Given the description of an element on the screen output the (x, y) to click on. 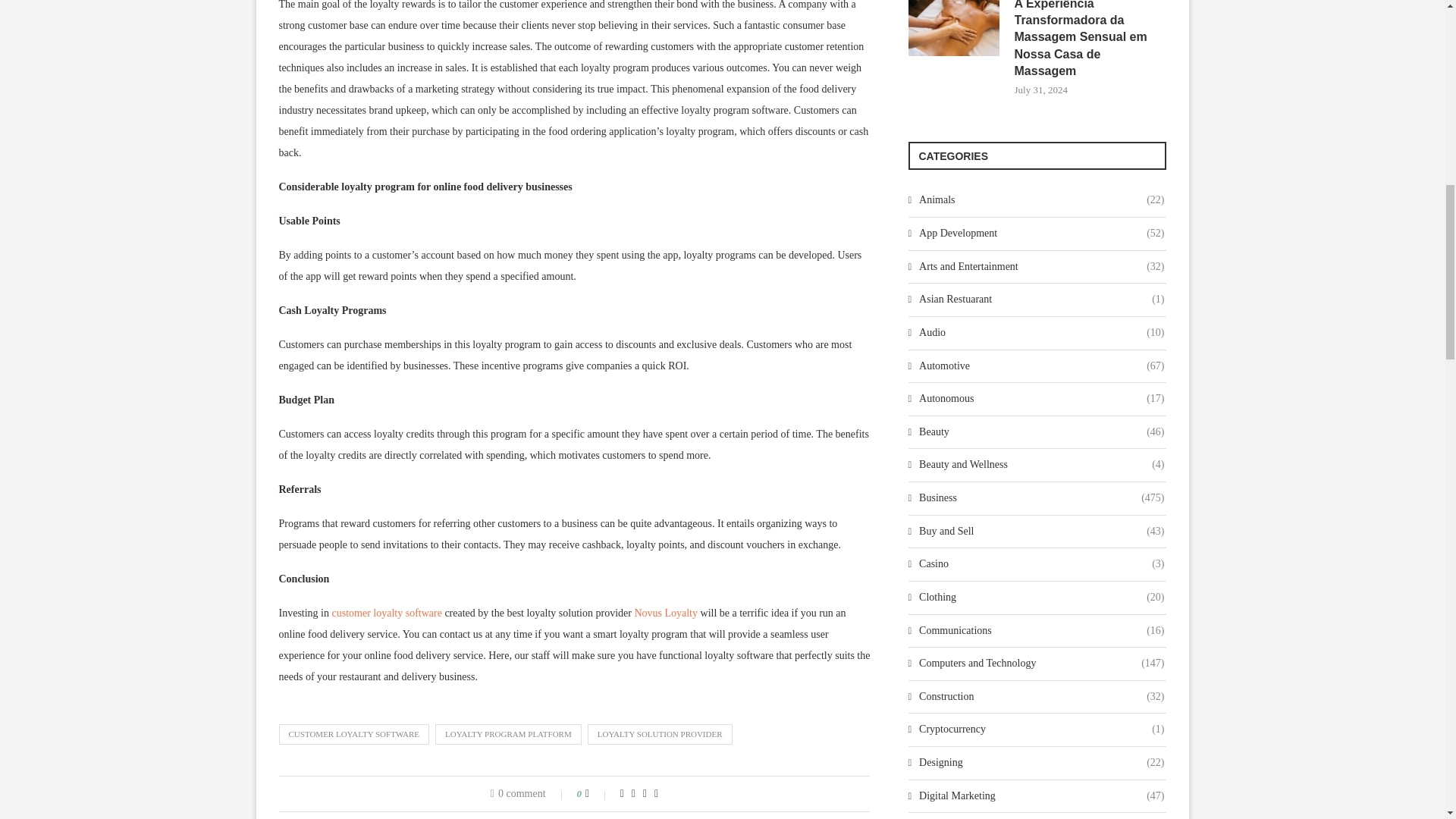
LOYALTY SOLUTION PROVIDER (660, 733)
Novus Loyalty (665, 613)
customer loyalty software (386, 613)
CUSTOMER LOYALTY SOFTWARE (354, 733)
Like (597, 793)
LOYALTY PROGRAM PLATFORM (507, 733)
